Given the description of an element on the screen output the (x, y) to click on. 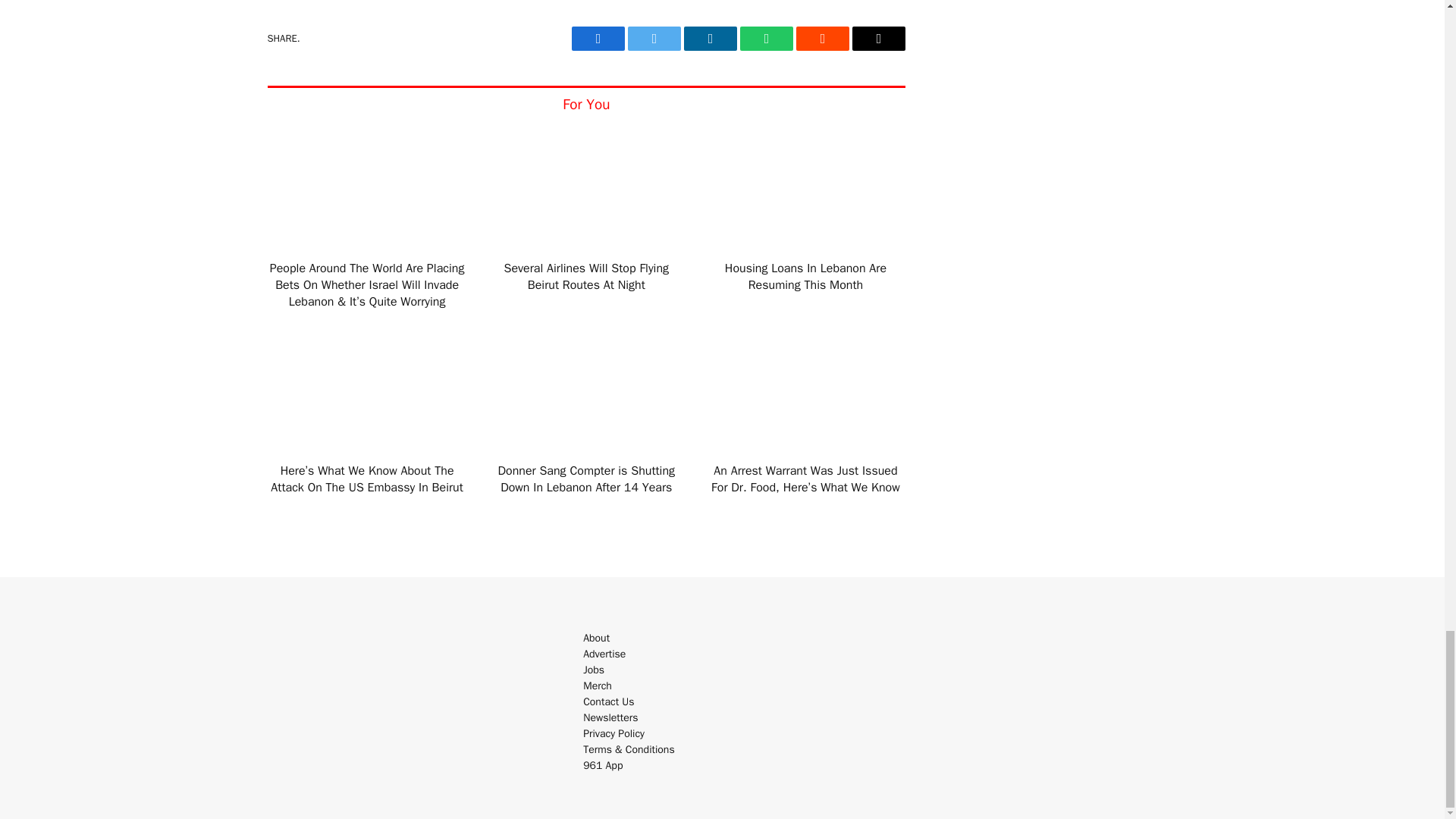
Twitter (654, 38)
Facebook (598, 38)
Share on Reddit (822, 38)
Share on LinkedIn (710, 38)
Share via Email (878, 38)
Share on Facebook (598, 38)
Share on WhatsApp (766, 38)
